Given the description of an element on the screen output the (x, y) to click on. 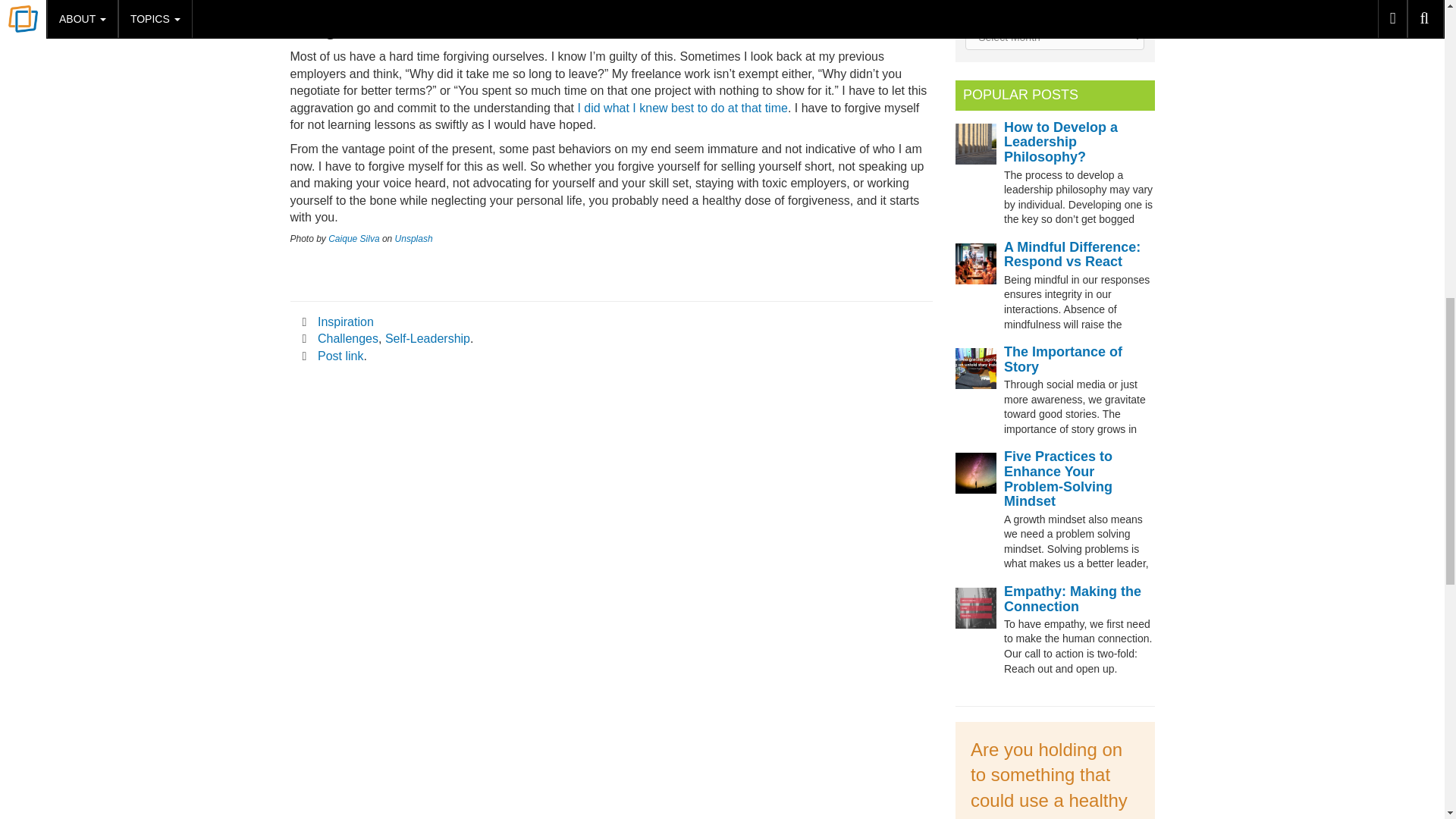
The Importance of Story (1063, 358)
Caique Silva (353, 238)
Challenges (347, 338)
Post link (339, 355)
A Mindful Difference: Respond vs React (1072, 254)
Inspiration (345, 321)
I did what I knew best to do at that time (680, 107)
How to Develop a Leadership Philosophy? (1061, 142)
Unsplash (413, 238)
